Given the description of an element on the screen output the (x, y) to click on. 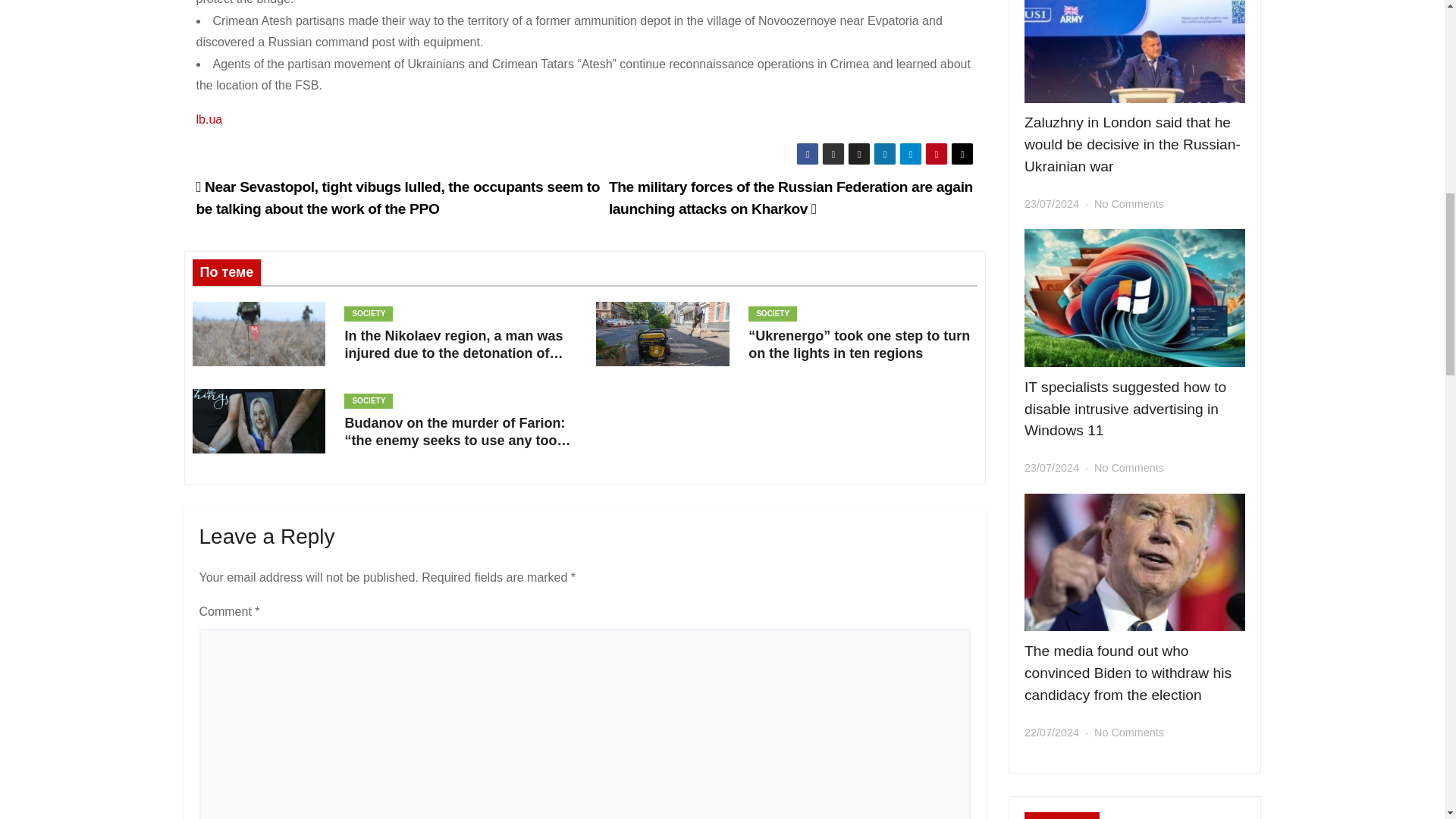
lb.ua (208, 119)
